Given the description of an element on the screen output the (x, y) to click on. 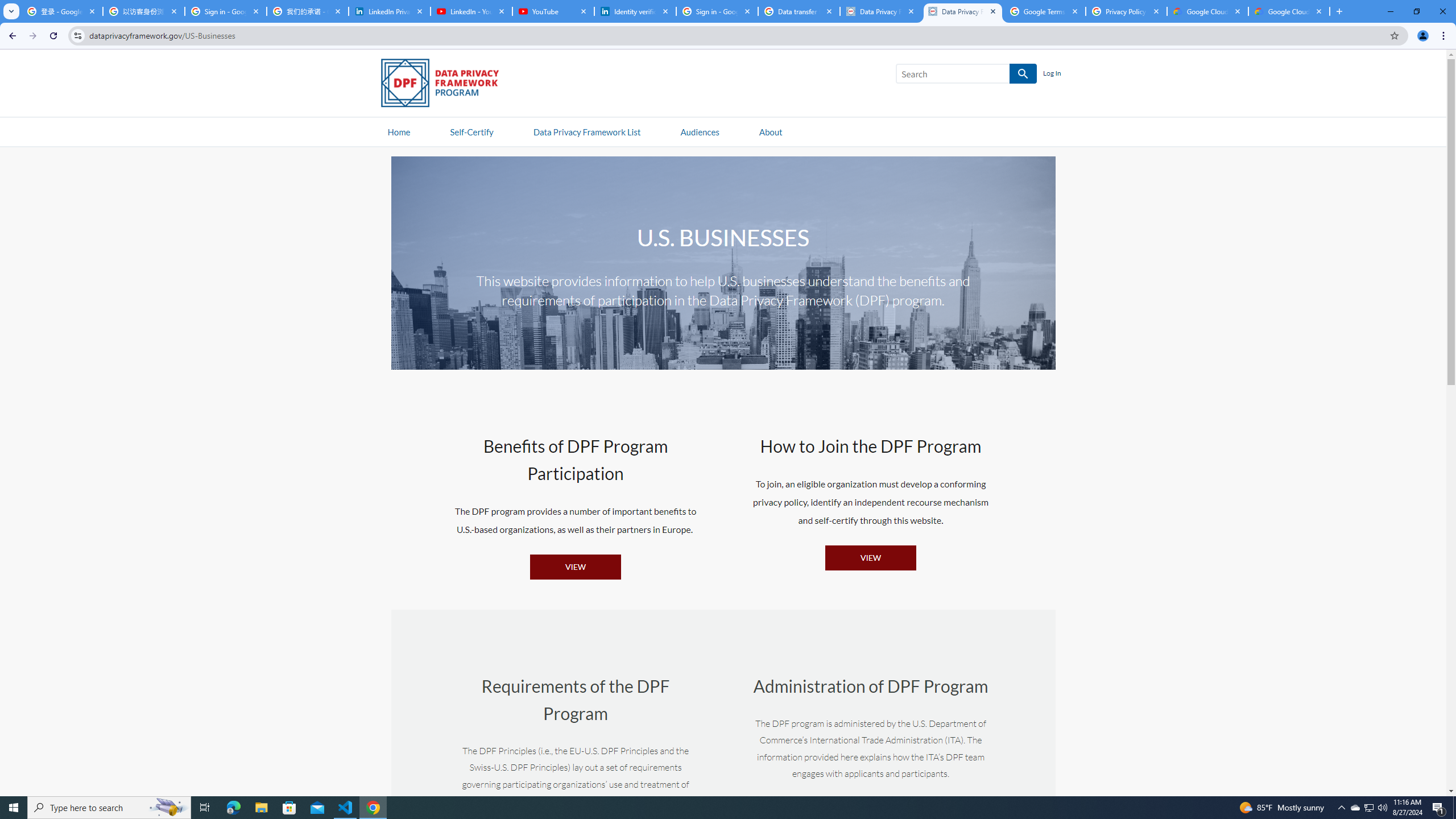
Audiences (699, 131)
AutomationID: navitem2 (769, 131)
Log In (1051, 73)
Google Cloud Privacy Notice (1289, 11)
About (769, 131)
Home (398, 131)
YouTube (552, 11)
Search SEARCH (965, 75)
Data Privacy Framework List (586, 131)
LinkedIn Privacy Policy (389, 11)
